Given the description of an element on the screen output the (x, y) to click on. 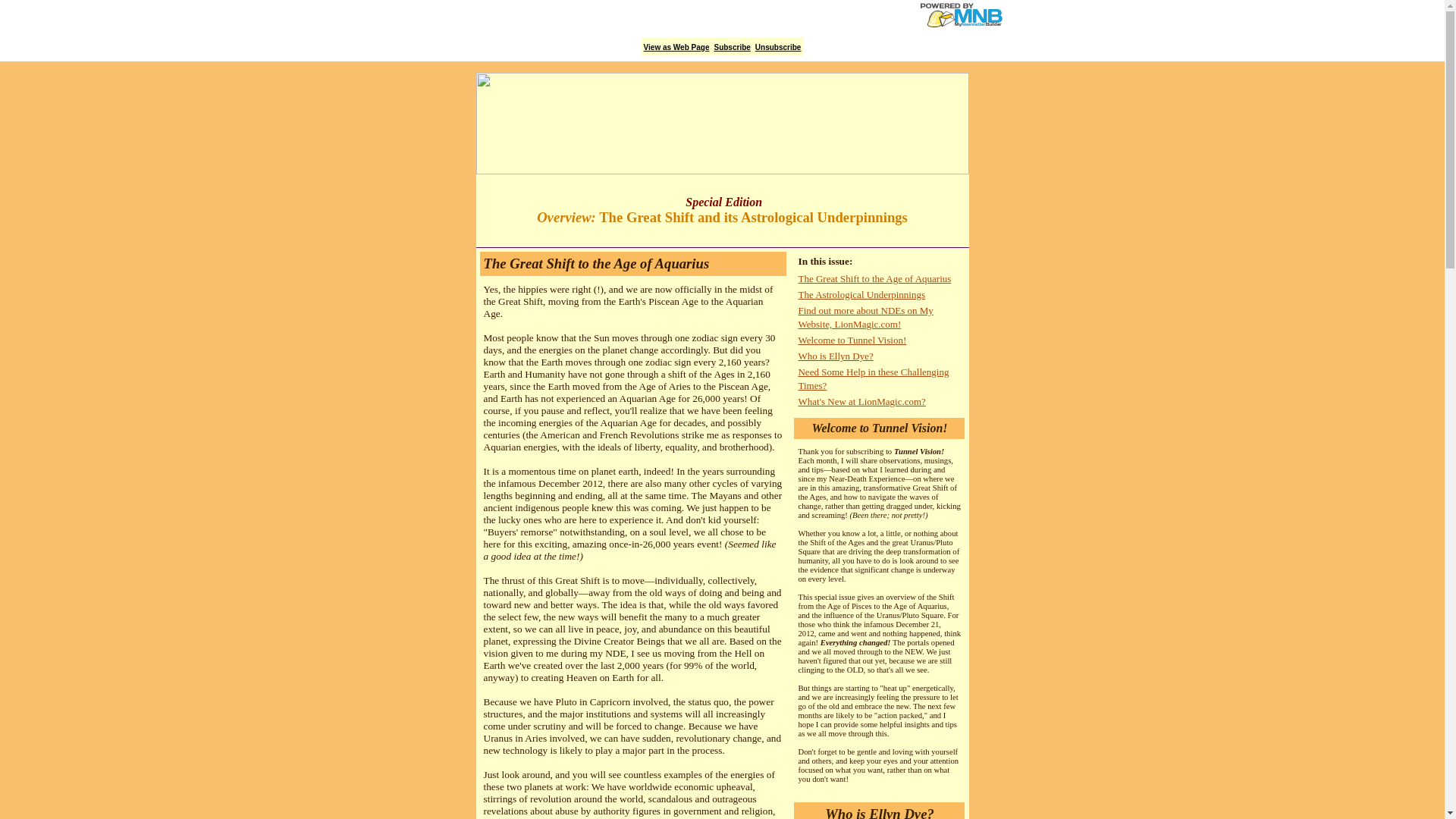
Find out more about NDEs on My Website, LionMagic.com! (865, 317)
Subscribe (731, 47)
Who is Ellyn Dye? (834, 355)
The Astrological Underpinnings (860, 294)
The Great Shift to the Age of Aquarius (873, 278)
View as Web Page (676, 47)
What's New at LionMagic.com? (860, 401)
Welcome to Tunnel Vision! (851, 339)
Need Some Help in these Challenging Times? (873, 378)
Unsubscribe (778, 47)
